Given the description of an element on the screen output the (x, y) to click on. 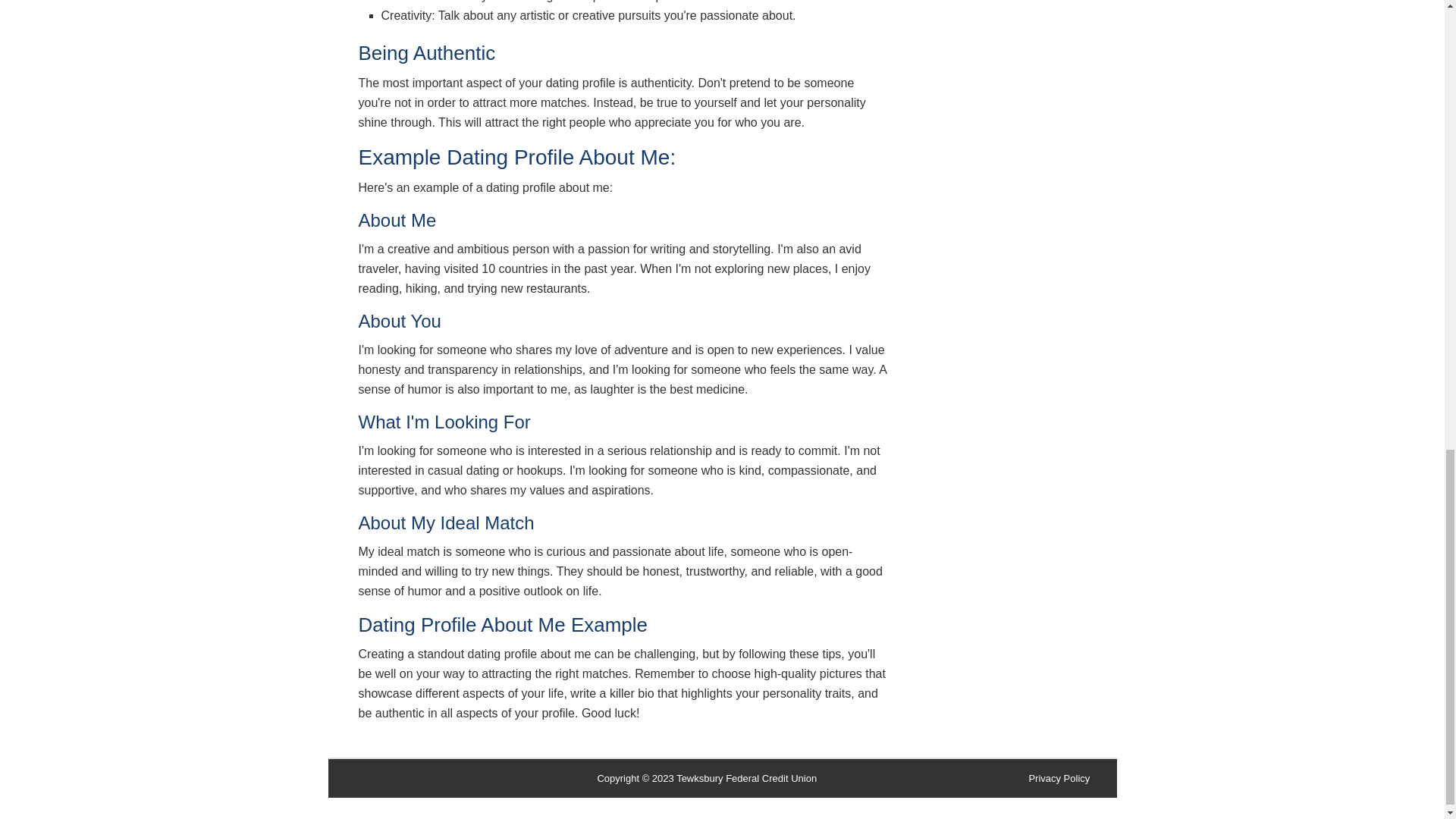
Privacy Policy (1058, 778)
